Given the description of an element on the screen output the (x, y) to click on. 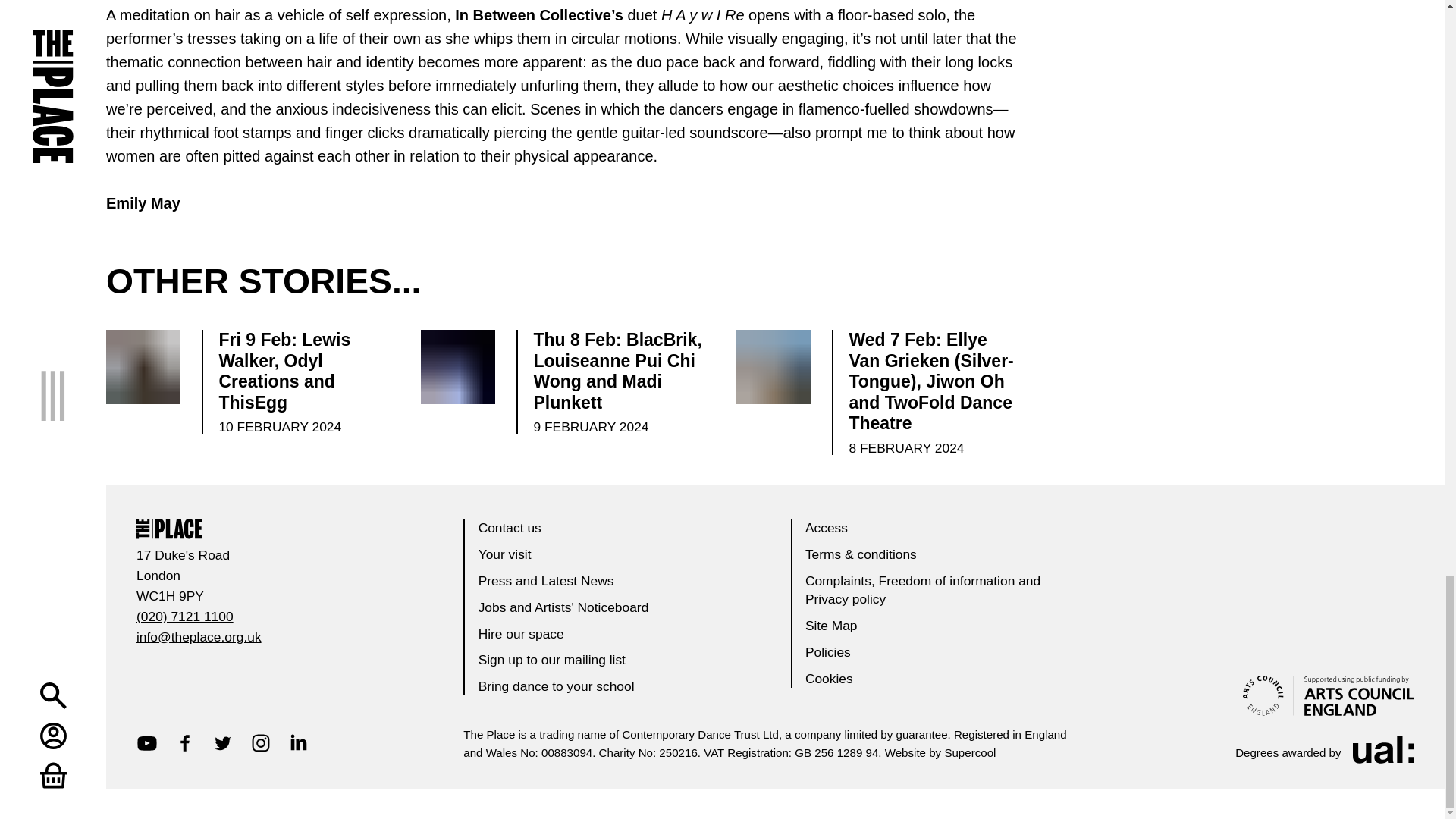
Press and Latest News (546, 580)
Cookies (829, 678)
LinkedIn (298, 741)
Youtube (146, 741)
Your visit (505, 554)
Contact us (510, 527)
Site Map (831, 625)
Twitter (223, 741)
Complaints, Freedom of information and Privacy policy (923, 589)
Bring dance to your school (556, 685)
Access (826, 527)
Facebook (185, 741)
Jobs and Artists' Noticeboard (564, 607)
